Given the description of an element on the screen output the (x, y) to click on. 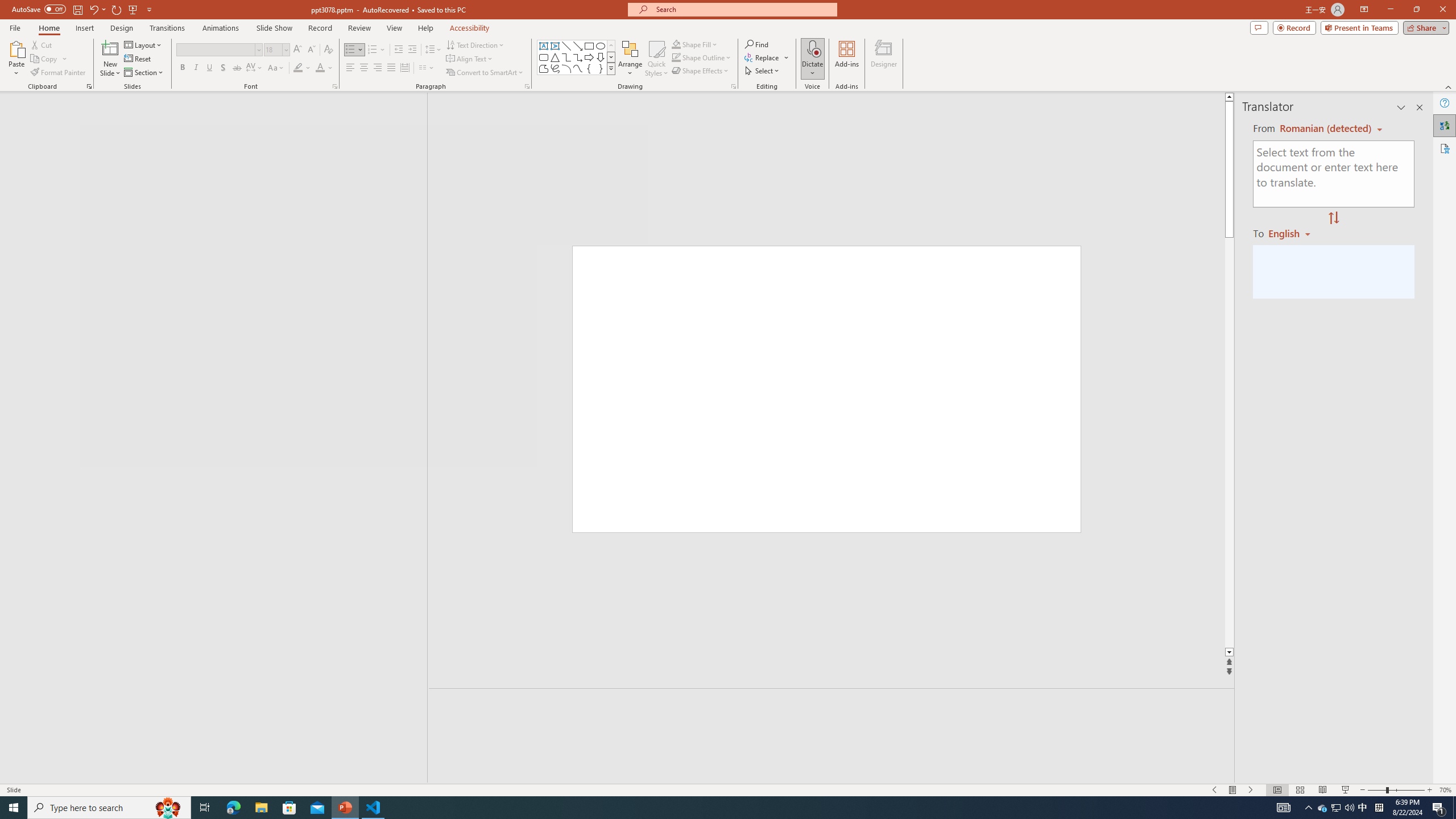
Quick Styles (656, 58)
Center (363, 67)
Shape Outline Green, Accent 1 (675, 56)
Align Text (470, 58)
New Slide (110, 58)
Slide Show Previous On (1214, 790)
Zoom Out (1376, 790)
Arrow: Down (600, 57)
Line Spacing (433, 49)
Rectangle (589, 45)
Menu On (1232, 790)
Animations (220, 28)
